Given the description of an element on the screen output the (x, y) to click on. 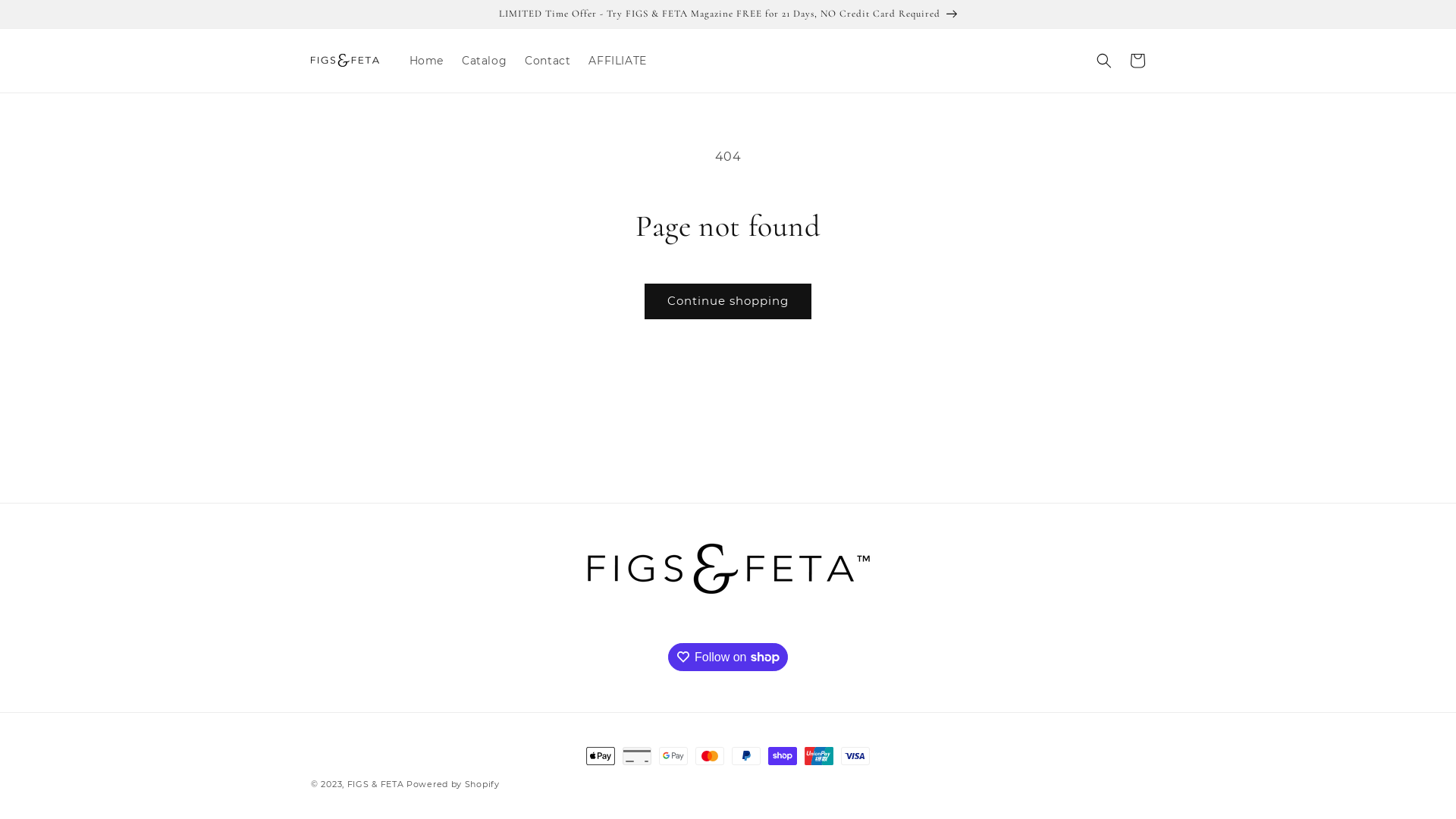
Catalog Element type: text (483, 60)
Cart Element type: text (1137, 60)
Powered by Shopify Element type: text (452, 783)
Home Element type: text (426, 60)
AFFILIATE Element type: text (617, 60)
Continue shopping Element type: text (727, 301)
FIGS & FETA Element type: text (375, 783)
Contact Element type: text (547, 60)
